Given the description of an element on the screen output the (x, y) to click on. 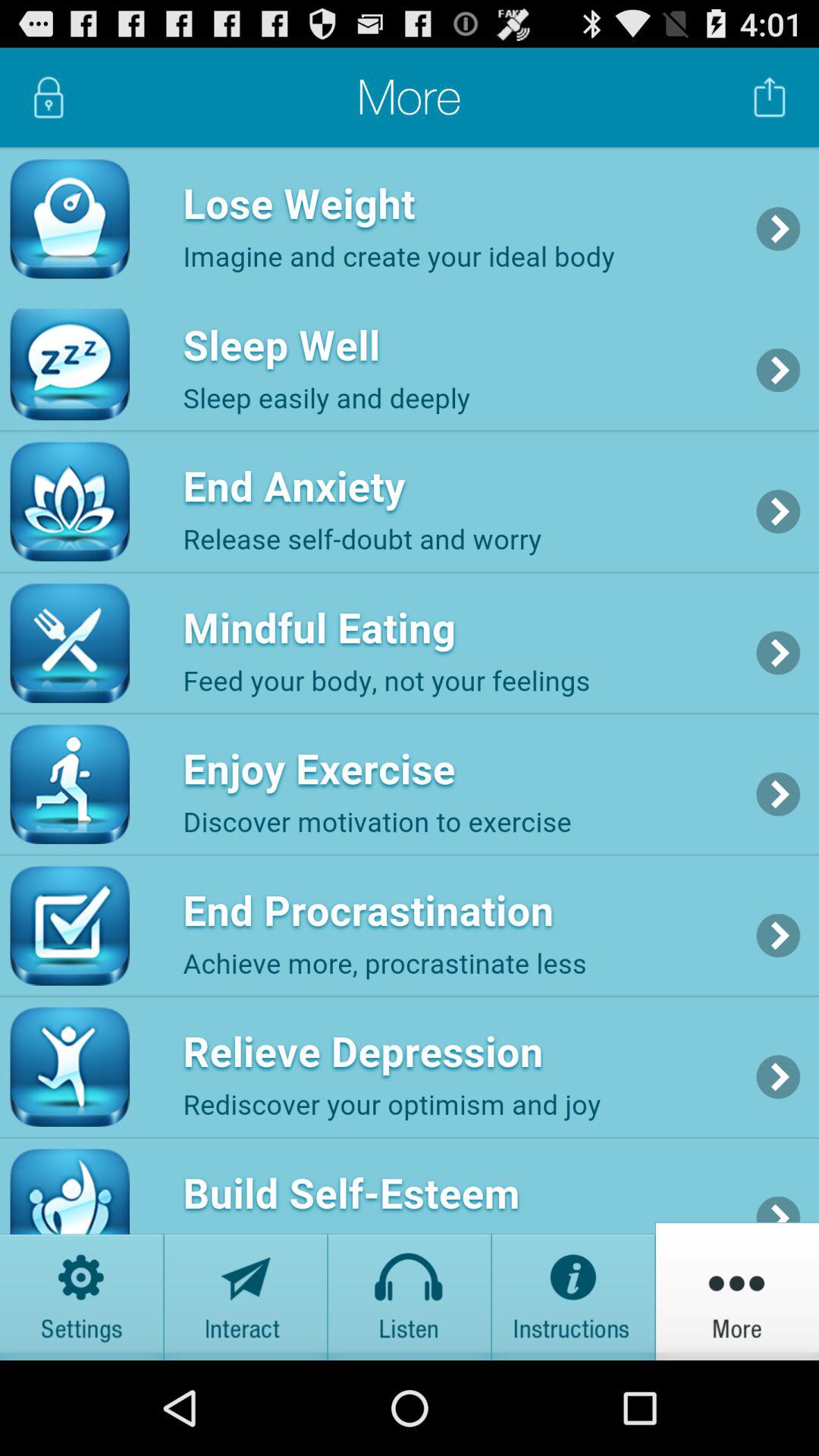
click more options (737, 1290)
